Given the description of an element on the screen output the (x, y) to click on. 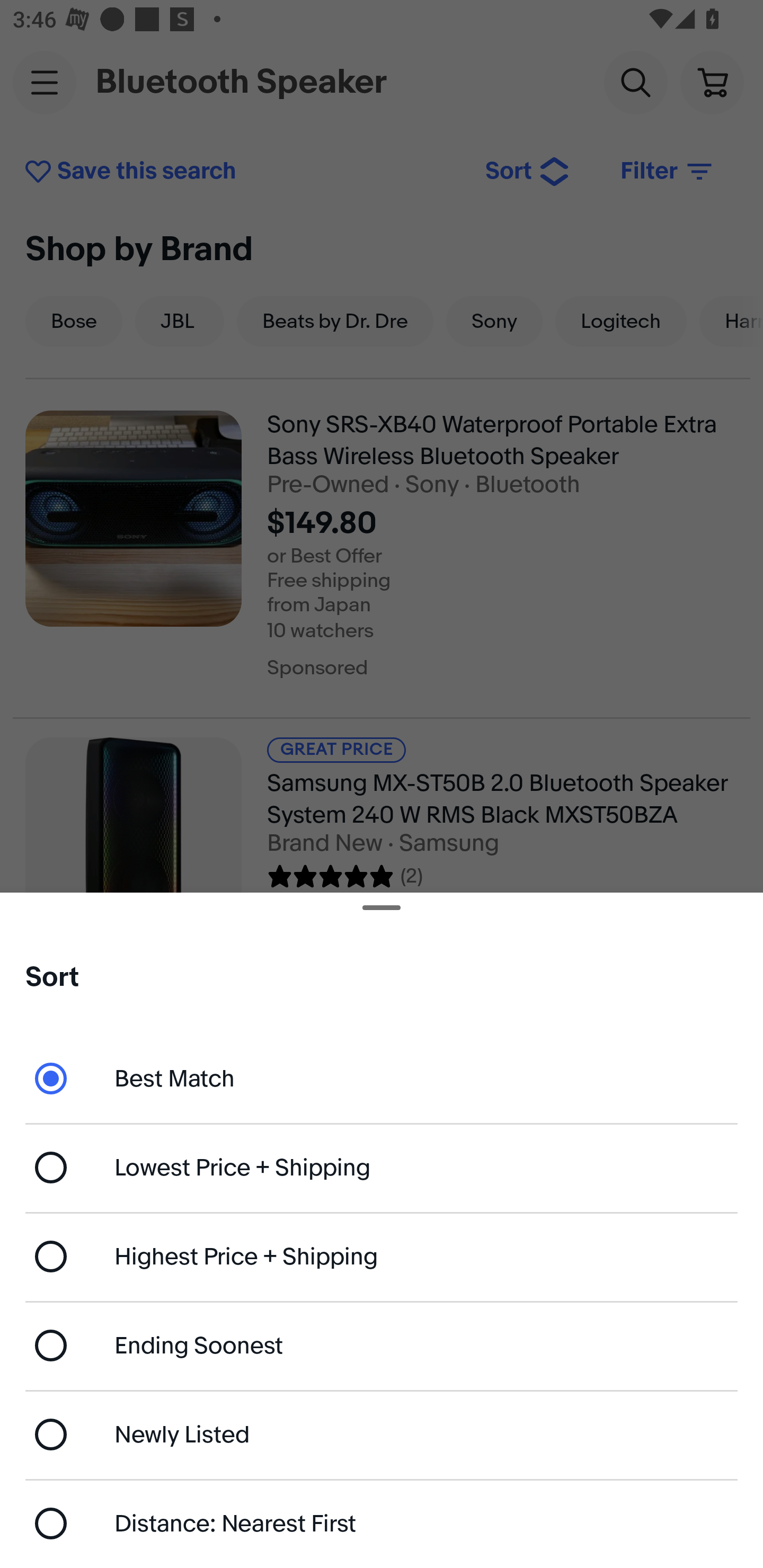
Best Match - currently selected Best Match (381, 1077)
Lowest Price + Shipping (381, 1167)
Highest Price + Shipping (381, 1256)
Ending Soonest (381, 1345)
Newly Listed (381, 1433)
Distance: Nearest First (381, 1523)
